Given the description of an element on the screen output the (x, y) to click on. 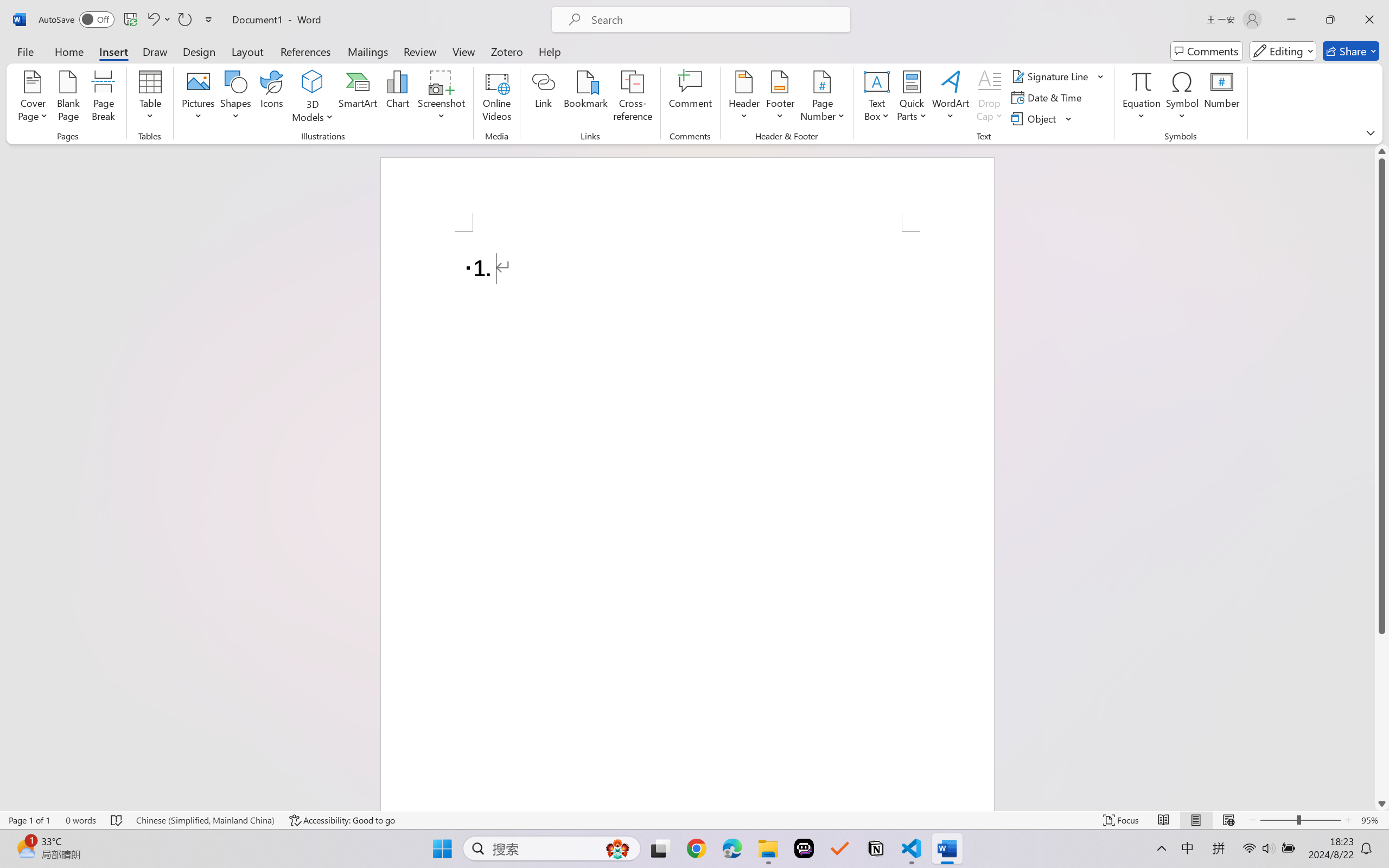
3D Models (312, 81)
Cover Page (33, 97)
Screenshot (441, 97)
WordArt (950, 97)
Number... (1221, 97)
Undo Number Default (158, 19)
